Given the description of an element on the screen output the (x, y) to click on. 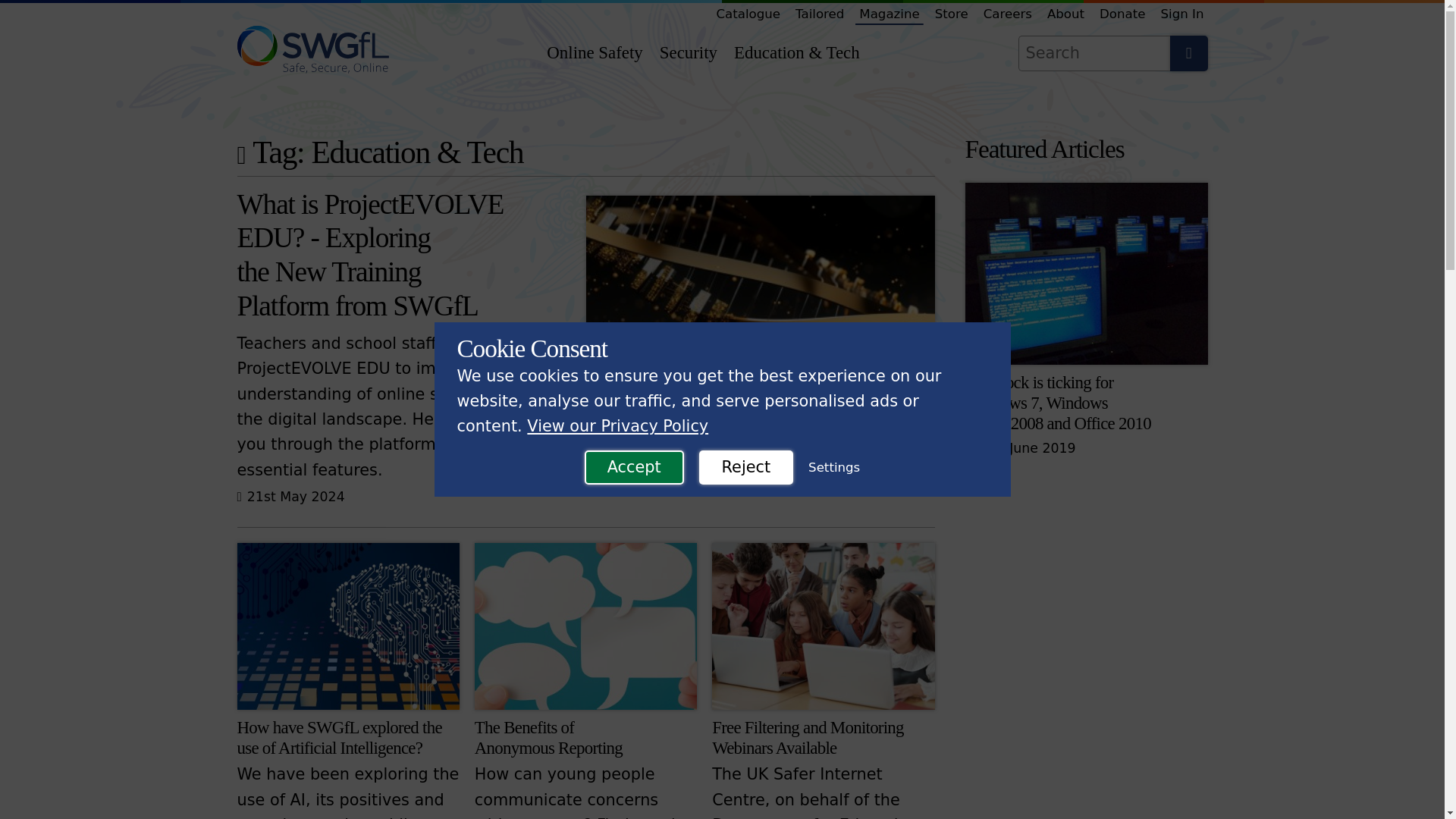
Find out all about us (1065, 14)
savecookies (77, 17)
Sign In (1182, 14)
Education and technology resources (796, 53)
Donate (1122, 14)
Accept (634, 467)
Catalogue (747, 14)
Store (951, 14)
Search the website (1188, 53)
Explore the products, services, and resources we offer (747, 14)
Read the latest news, opinion, and advice (889, 14)
Online Safety (593, 53)
View and customise the cookies you want to use (834, 467)
